Given the description of an element on the screen output the (x, y) to click on. 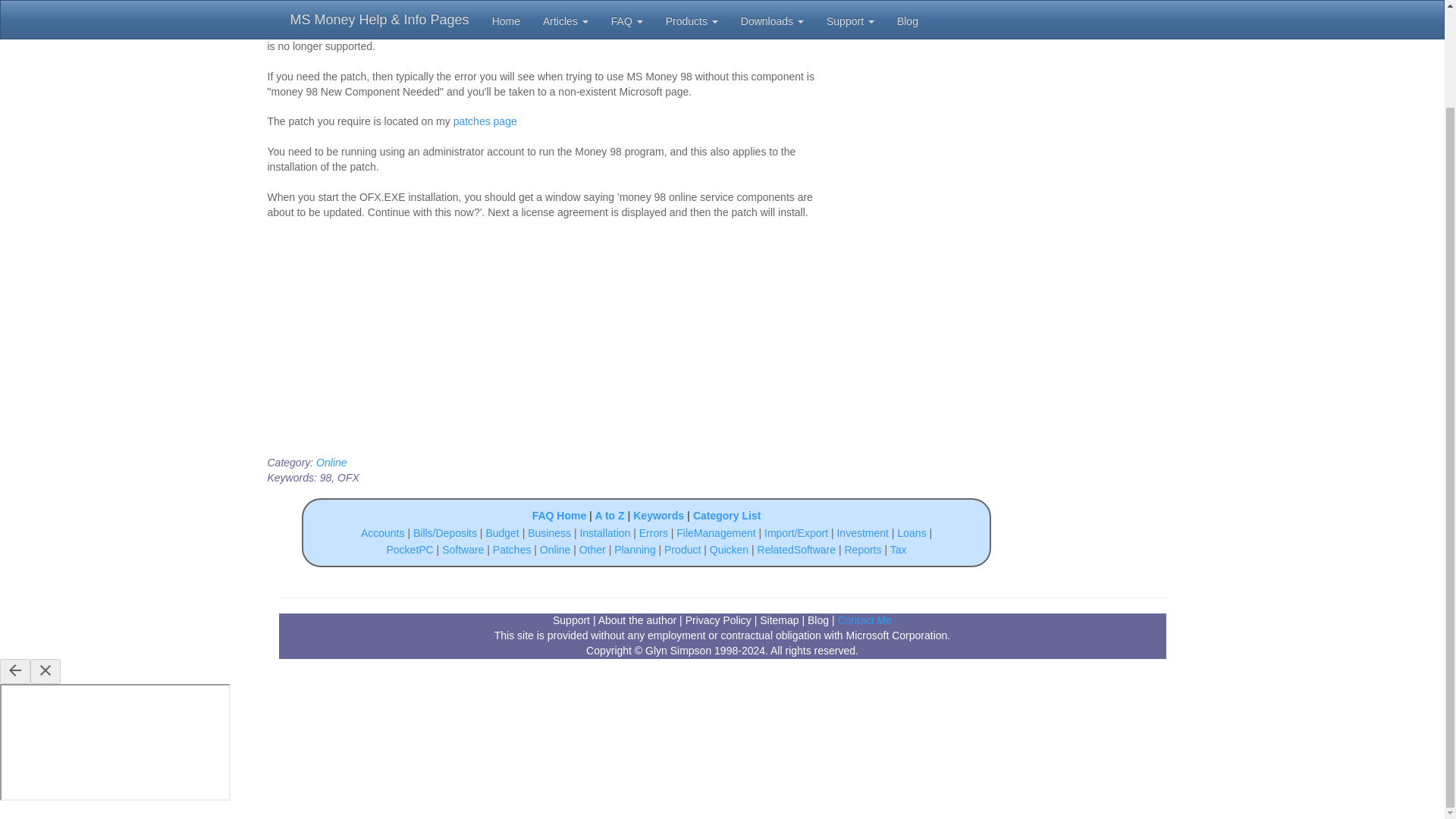
A to Z (609, 515)
Business (550, 532)
Article 235 (524, 15)
Category List (726, 515)
Online (330, 462)
Budget (501, 532)
Accounts (382, 532)
FAQ Home (559, 515)
Installation (606, 532)
patches page (484, 121)
